Given the description of an element on the screen output the (x, y) to click on. 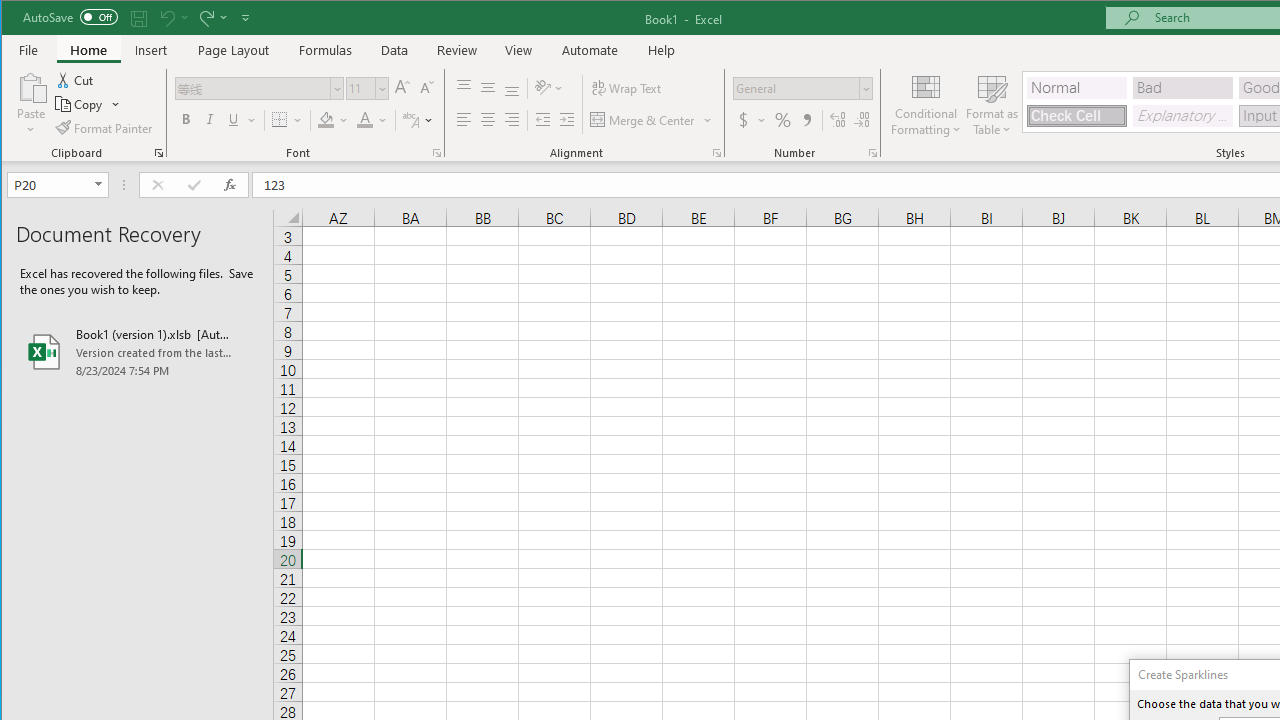
Underline (233, 119)
Font Size (360, 88)
Show Phonetic Field (410, 119)
Fill Color (333, 119)
Accounting Number Format (751, 119)
Underline (240, 119)
Bottom Align (511, 88)
Conditional Formatting (926, 104)
Format Cell Number (872, 152)
